Given the description of an element on the screen output the (x, y) to click on. 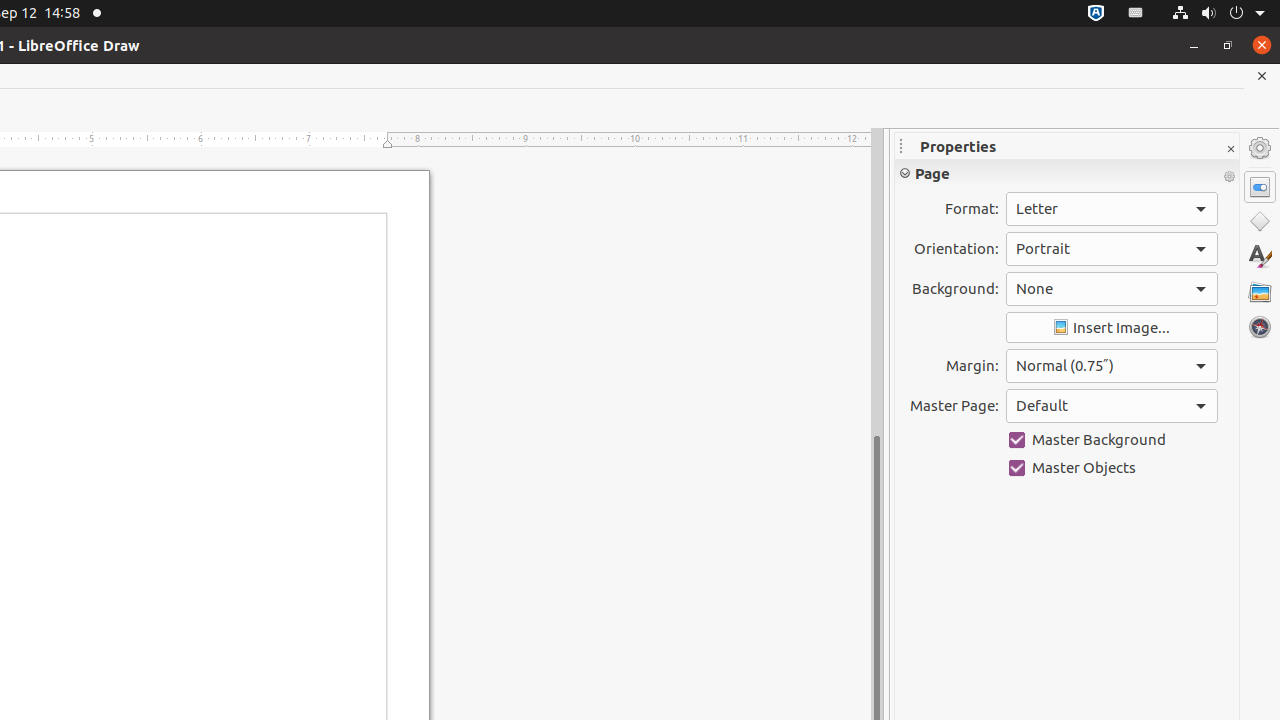
Gallery Element type: radio-button (1260, 292)
Close Sidebar Deck Element type: push-button (1230, 149)
Insert Image Element type: push-button (1112, 327)
Master Objects Element type: check-box (1112, 468)
Orientation: Element type: combo-box (1112, 249)
